Given the description of an element on the screen output the (x, y) to click on. 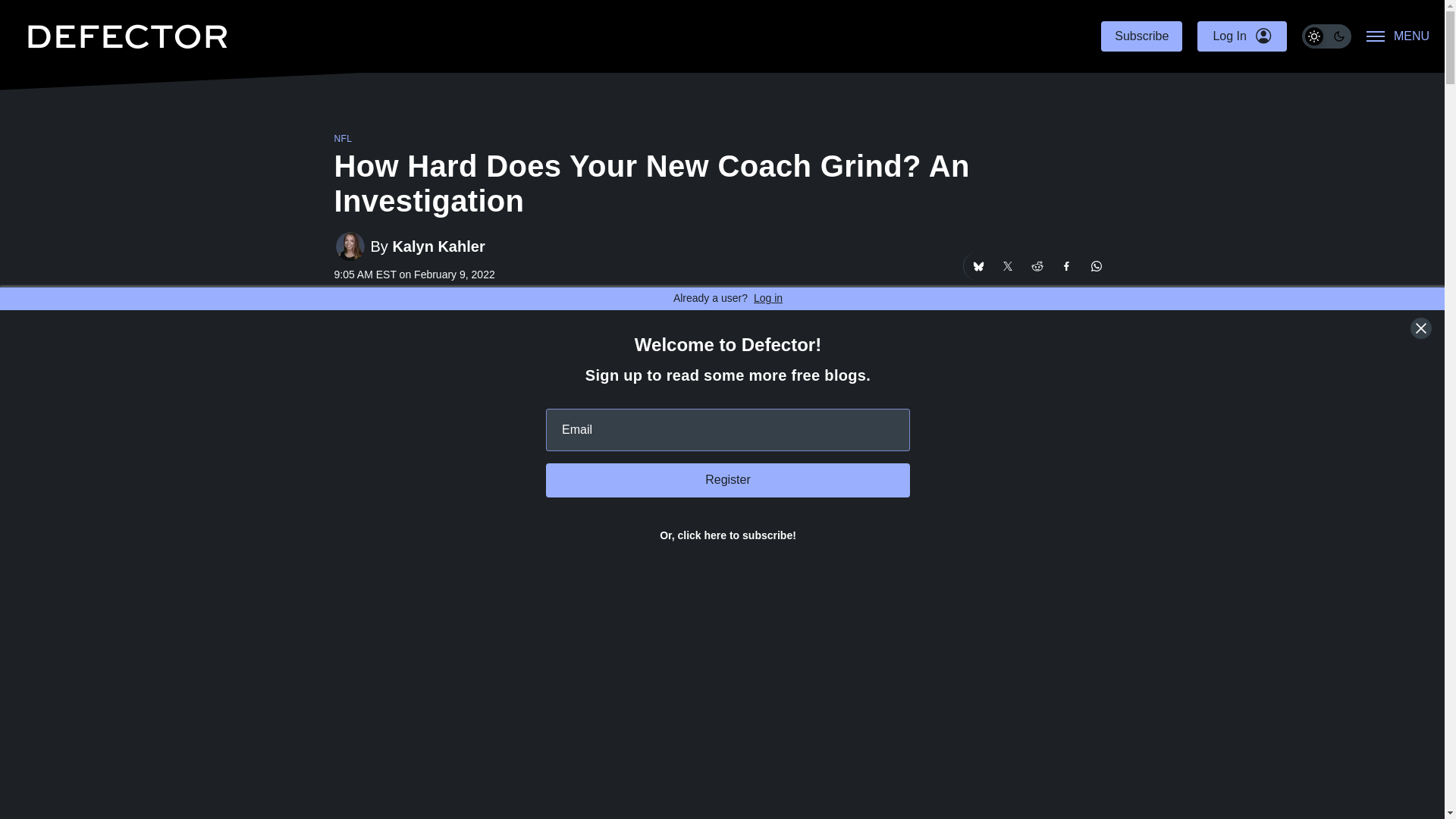
Share on Facebook (1066, 265)
Share on Bluesky (976, 265)
Log In (1240, 36)
Share on Reddit (1036, 265)
NFL (342, 138)
Kalyn Kahler (437, 246)
MENU (1398, 36)
Subscribe (1141, 36)
